Given the description of an element on the screen output the (x, y) to click on. 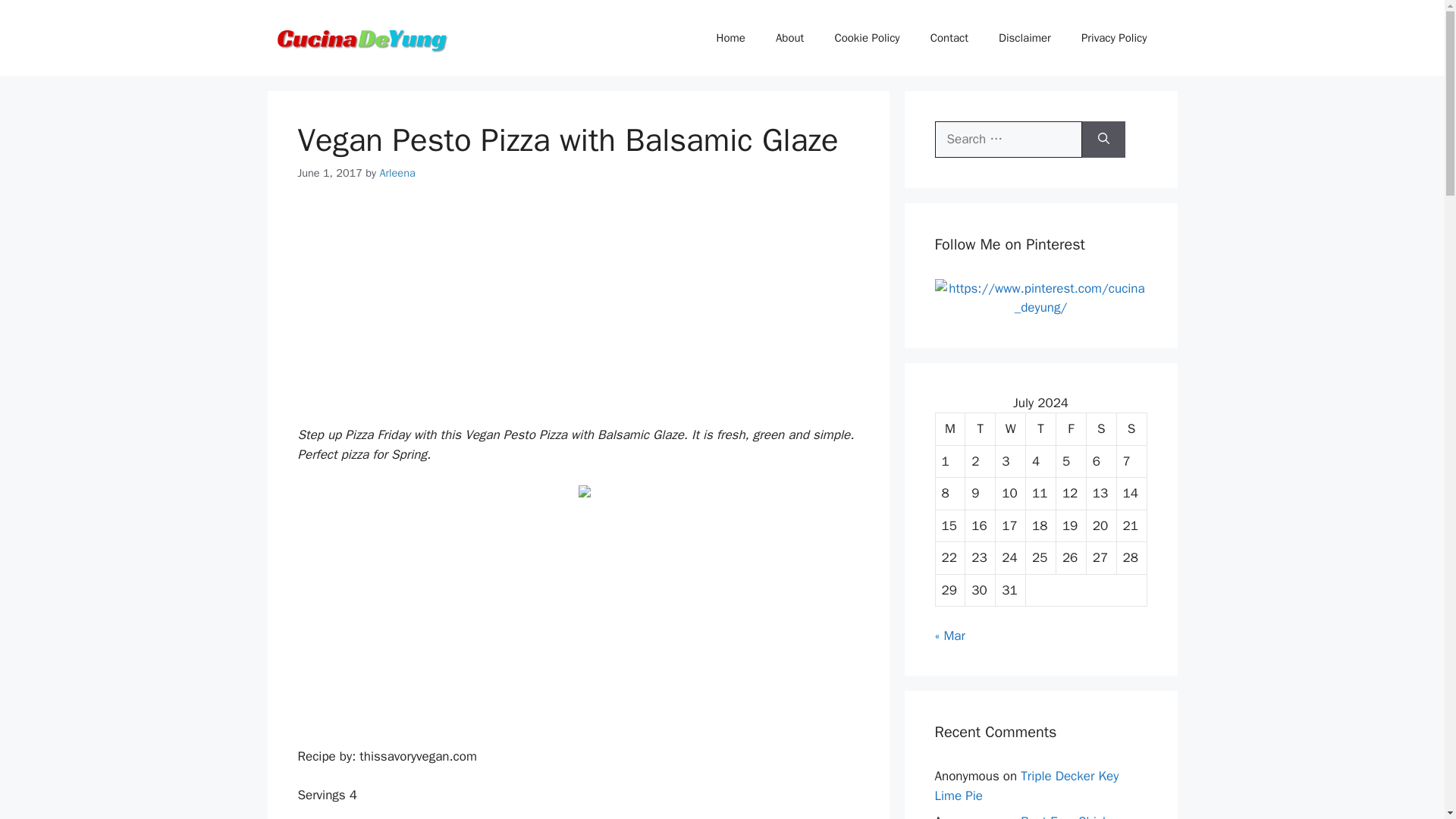
About (789, 37)
Arleena (396, 172)
View all posts by Arleena (396, 172)
Monday (951, 429)
Privacy Policy (1113, 37)
Advertisement (578, 313)
Triple Decker Key Lime Pie (1026, 785)
Advertisement (578, 614)
Cookie Policy (866, 37)
Search for: (1007, 139)
Home (730, 37)
Best-Ever Chicken Carbonara Recipe (1028, 816)
Disclaimer (1024, 37)
Contact (949, 37)
Tuesday (980, 429)
